Given the description of an element on the screen output the (x, y) to click on. 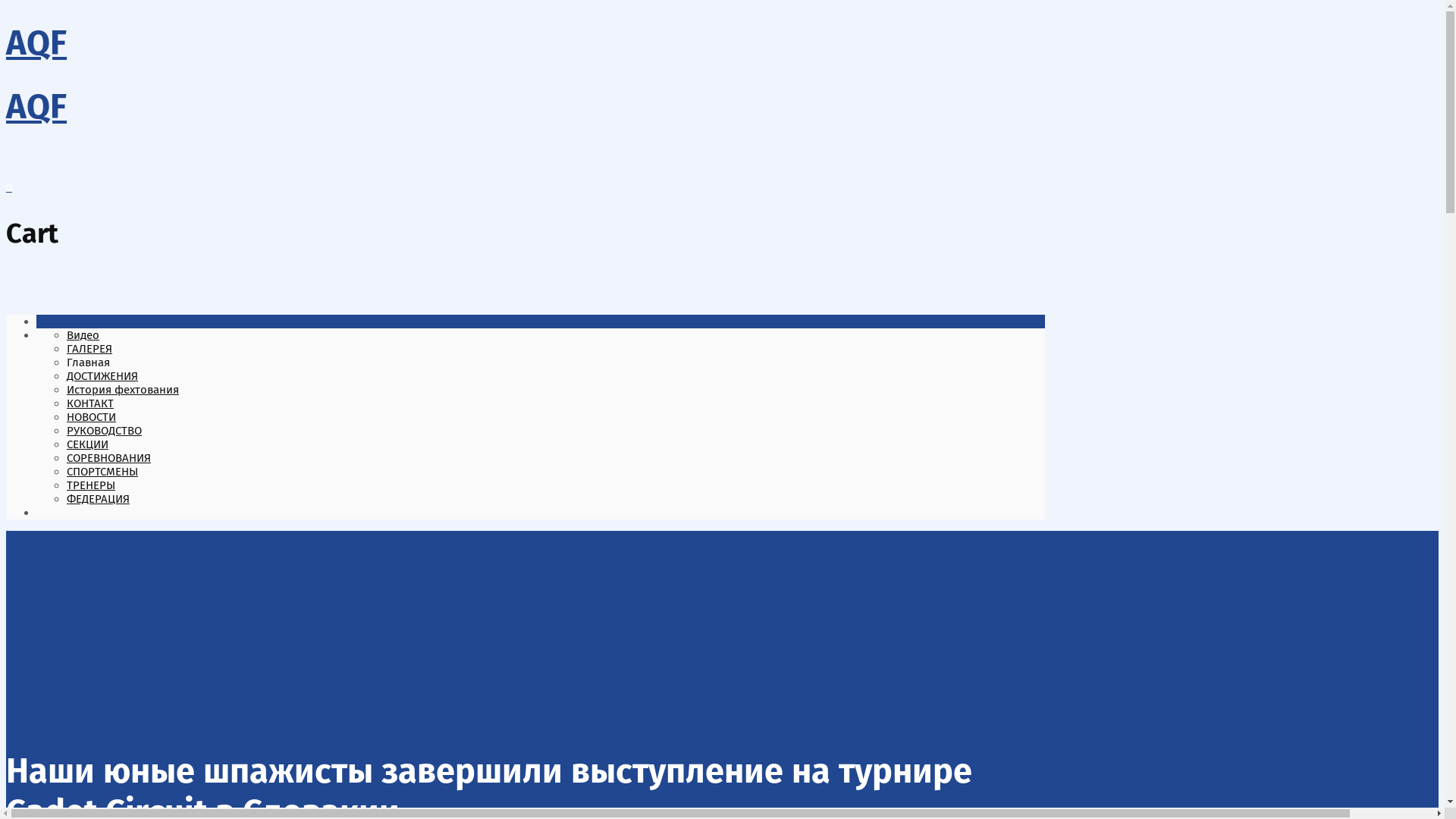
AQF Element type: text (36, 106)
0 Element type: text (9, 187)
AQF Element type: text (36, 42)
